Given the description of an element on the screen output the (x, y) to click on. 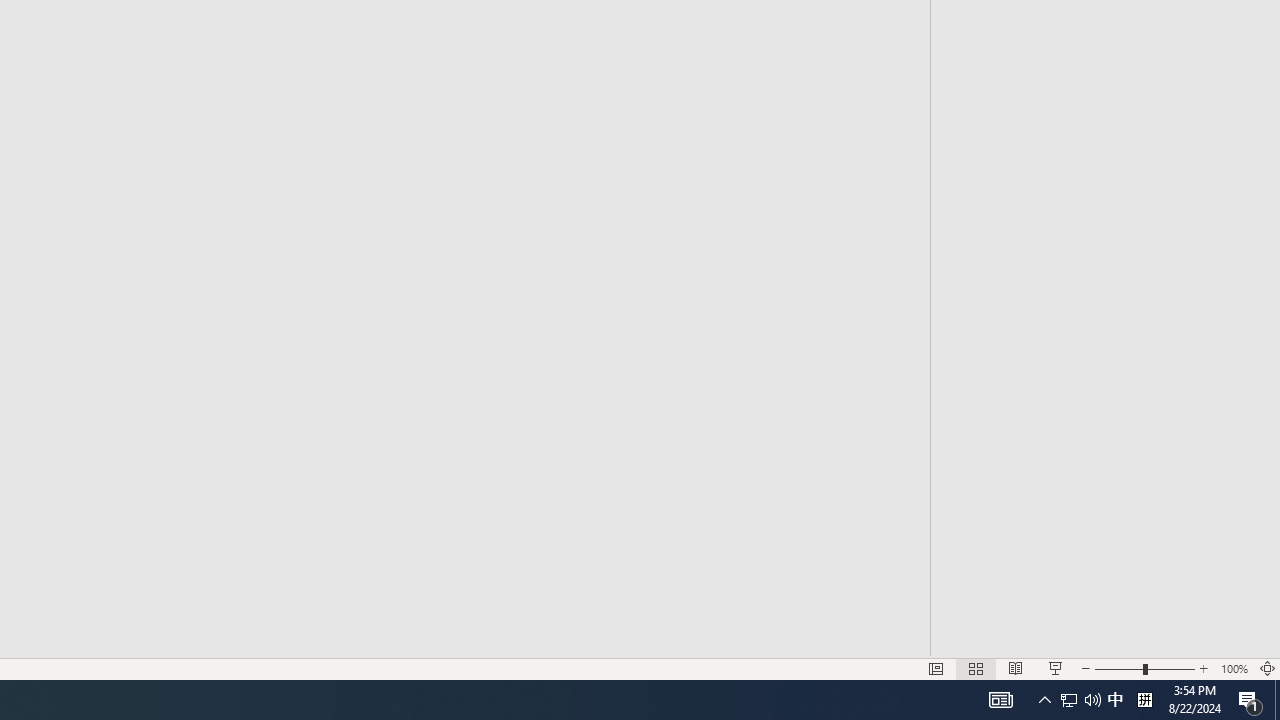
Zoom 100% (1234, 668)
